Given the description of an element on the screen output the (x, y) to click on. 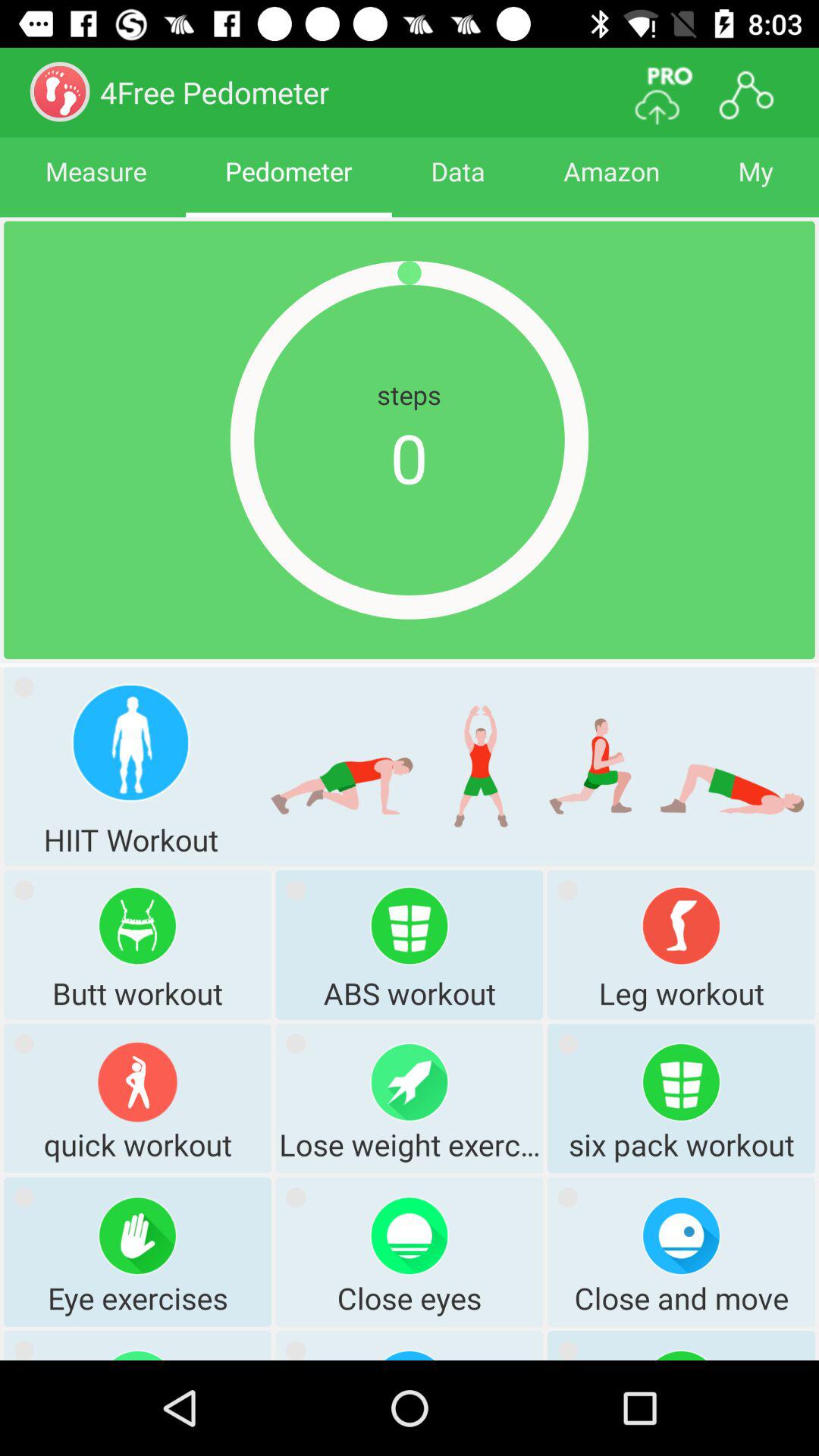
select my item (755, 185)
